Given the description of an element on the screen output the (x, y) to click on. 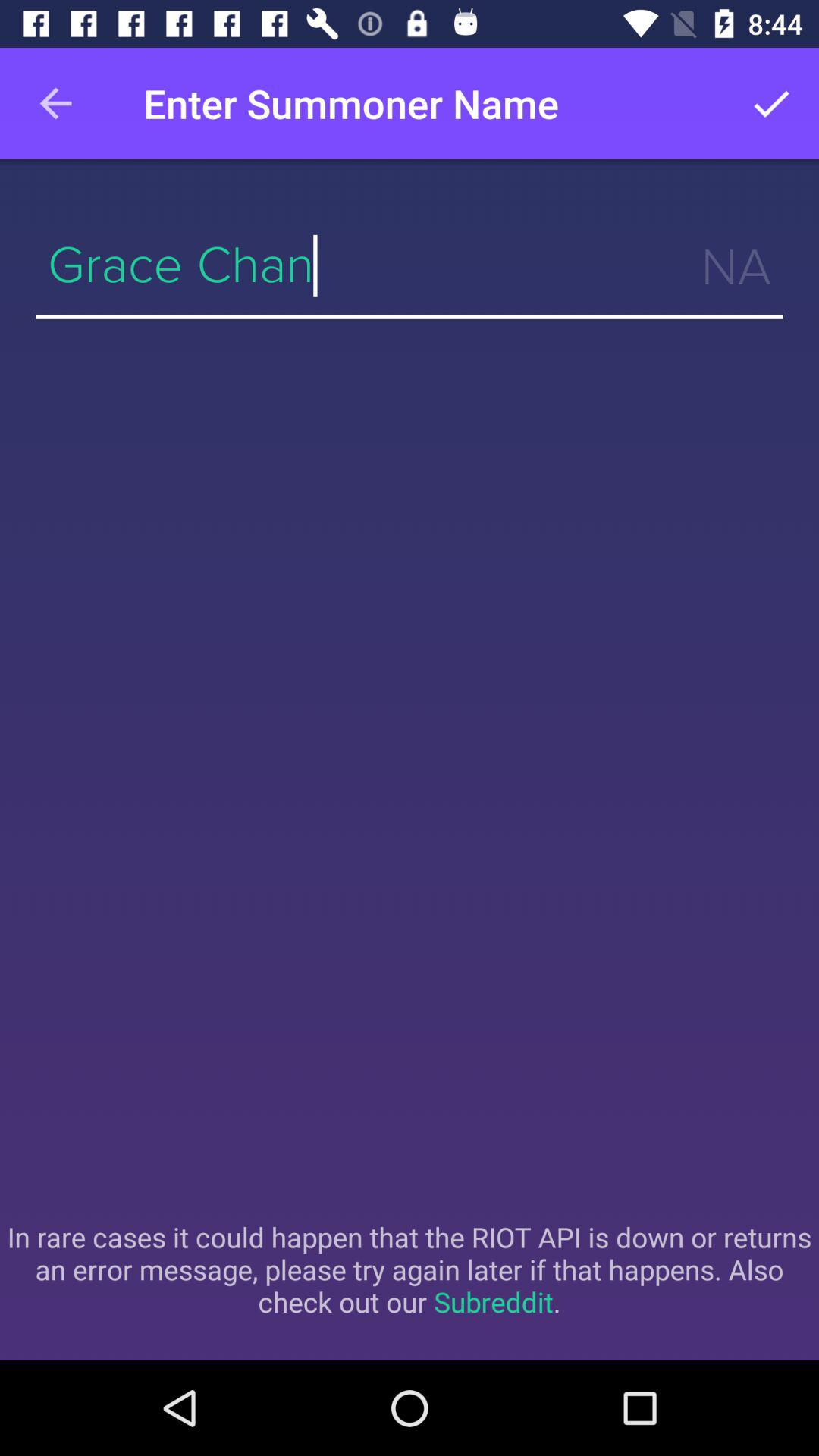
choose the item at the top left corner (55, 103)
